Given the description of an element on the screen output the (x, y) to click on. 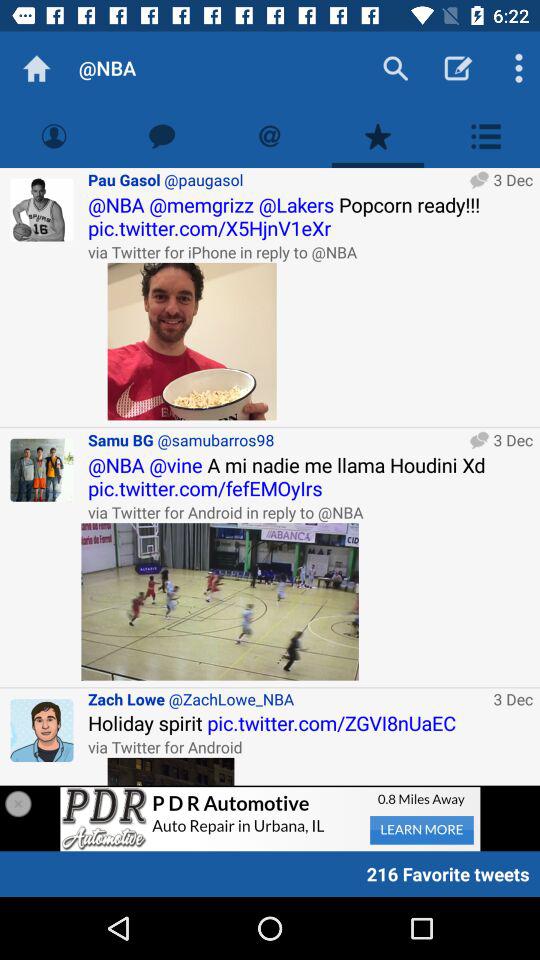
toggle to chat messages (162, 136)
